Given the description of an element on the screen output the (x, y) to click on. 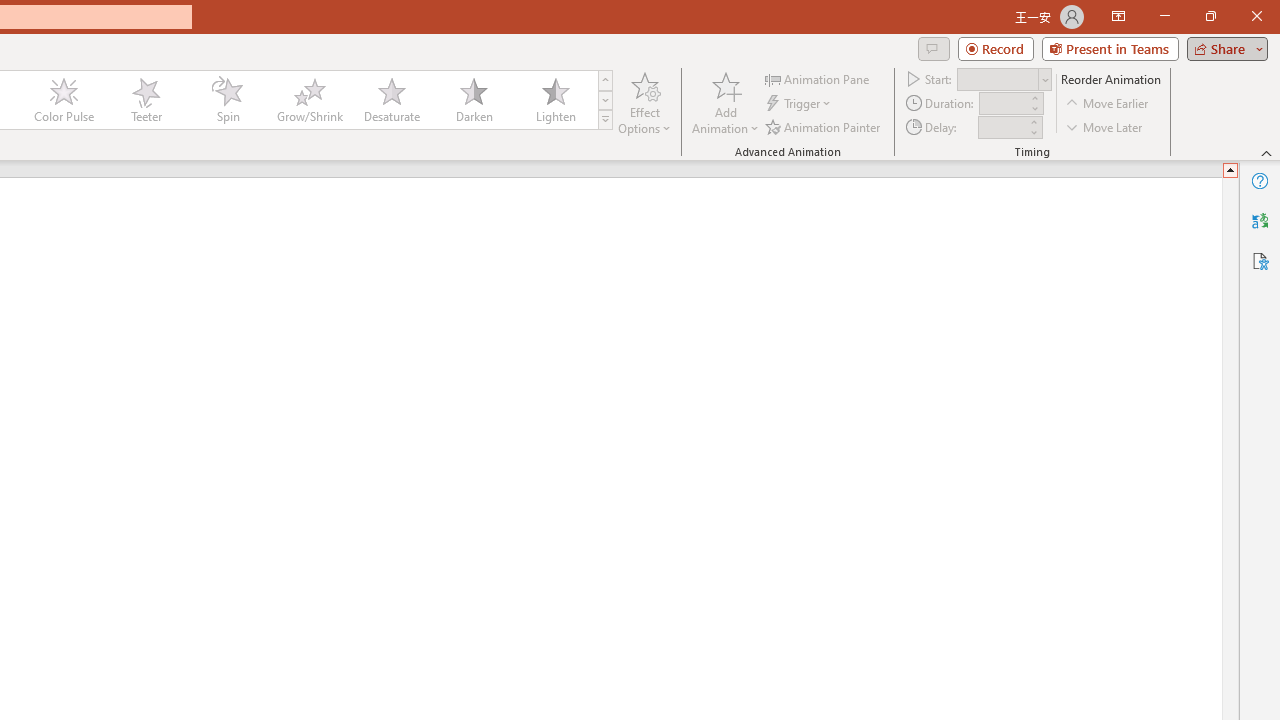
Animation Painter (824, 126)
Move Later (1105, 126)
Move Earlier (1107, 103)
Effect Options (644, 102)
